Given the description of an element on the screen output the (x, y) to click on. 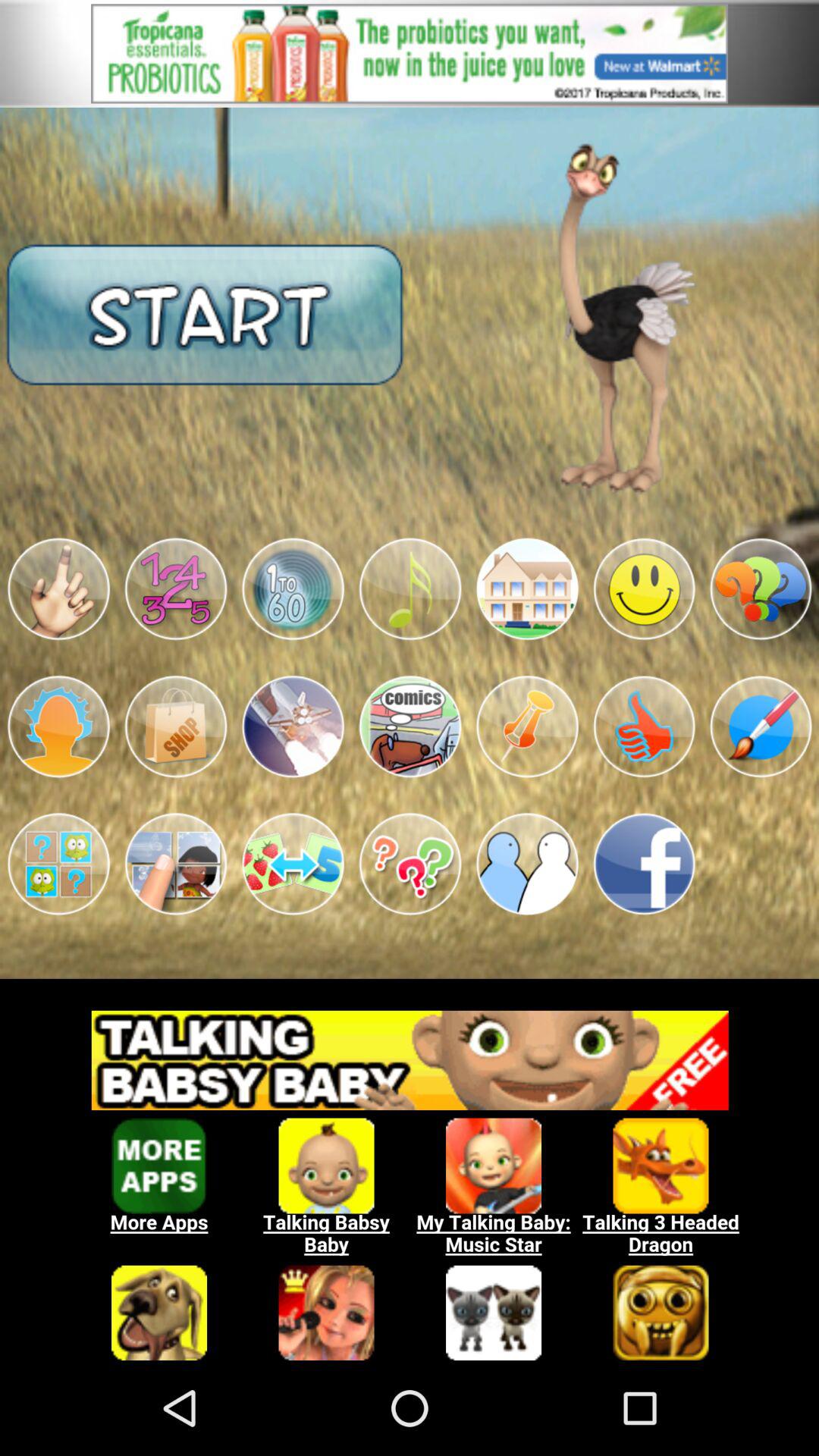
game icone (292, 863)
